Given the description of an element on the screen output the (x, y) to click on. 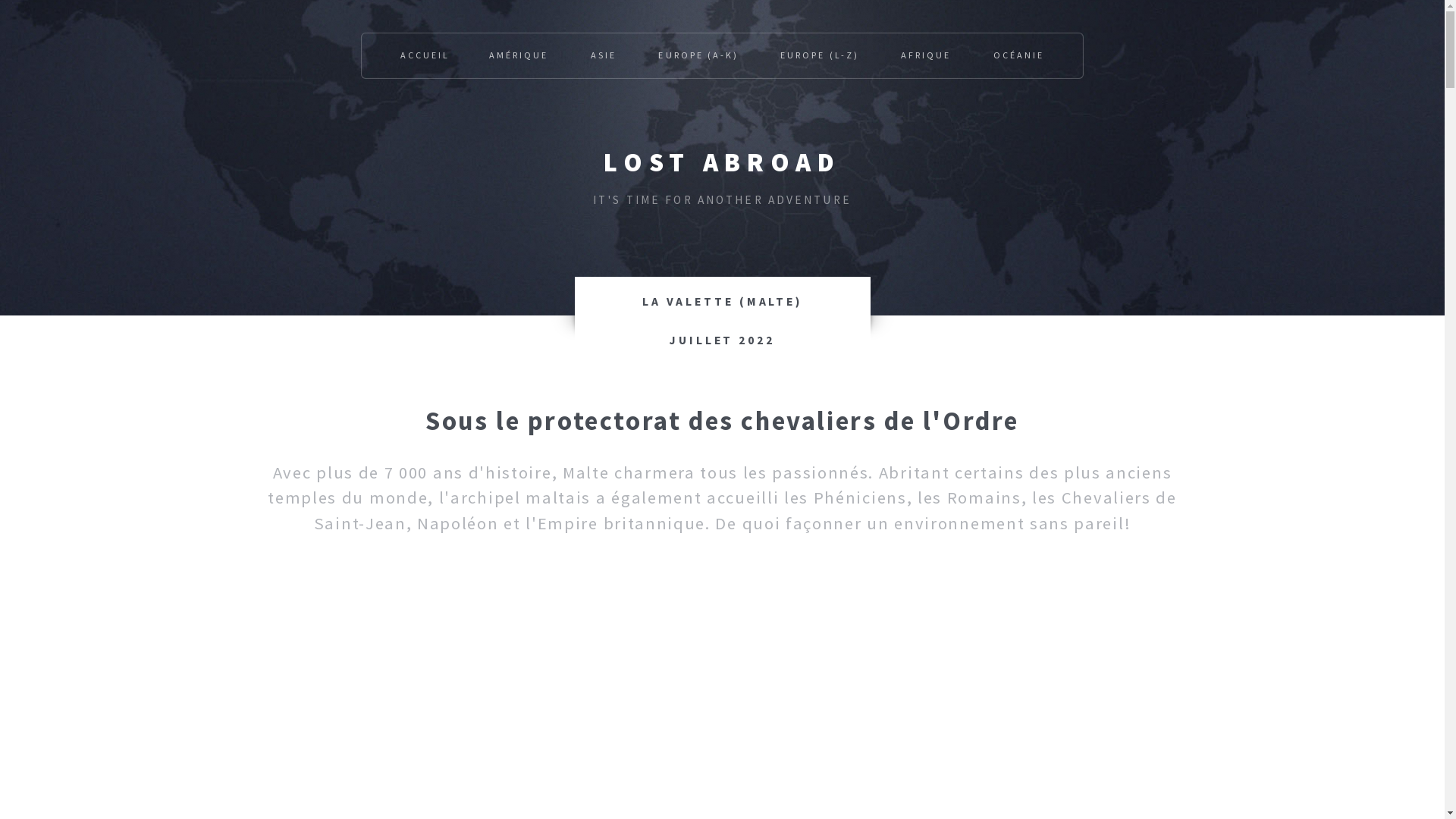
ASIE Element type: text (603, 55)
LOST ABROAD Element type: text (721, 161)
EUROPE (L-Z) Element type: text (819, 55)
AFRIQUE Element type: text (925, 55)
ACCUEIL Element type: text (424, 55)
EUROPE (A-K) Element type: text (697, 55)
